Given the description of an element on the screen output the (x, y) to click on. 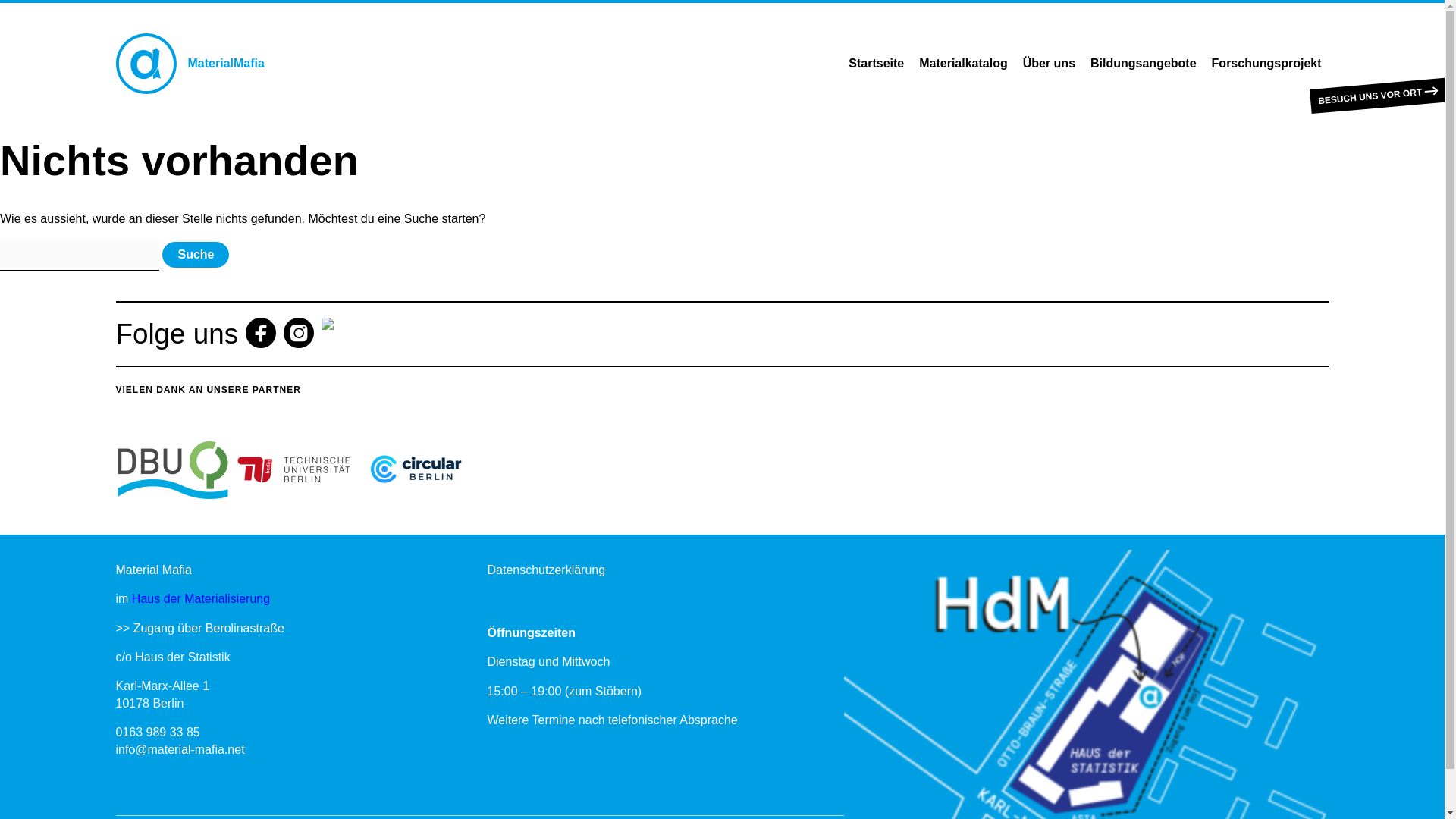
Bildungsangebote (1143, 63)
Startseite (876, 63)
Materialkatalog (962, 63)
MaterialMafia (189, 63)
Suche (194, 254)
Forschungsprojekt (1266, 63)
Haus der Materialisierung (200, 598)
Suche (194, 254)
